Given the description of an element on the screen output the (x, y) to click on. 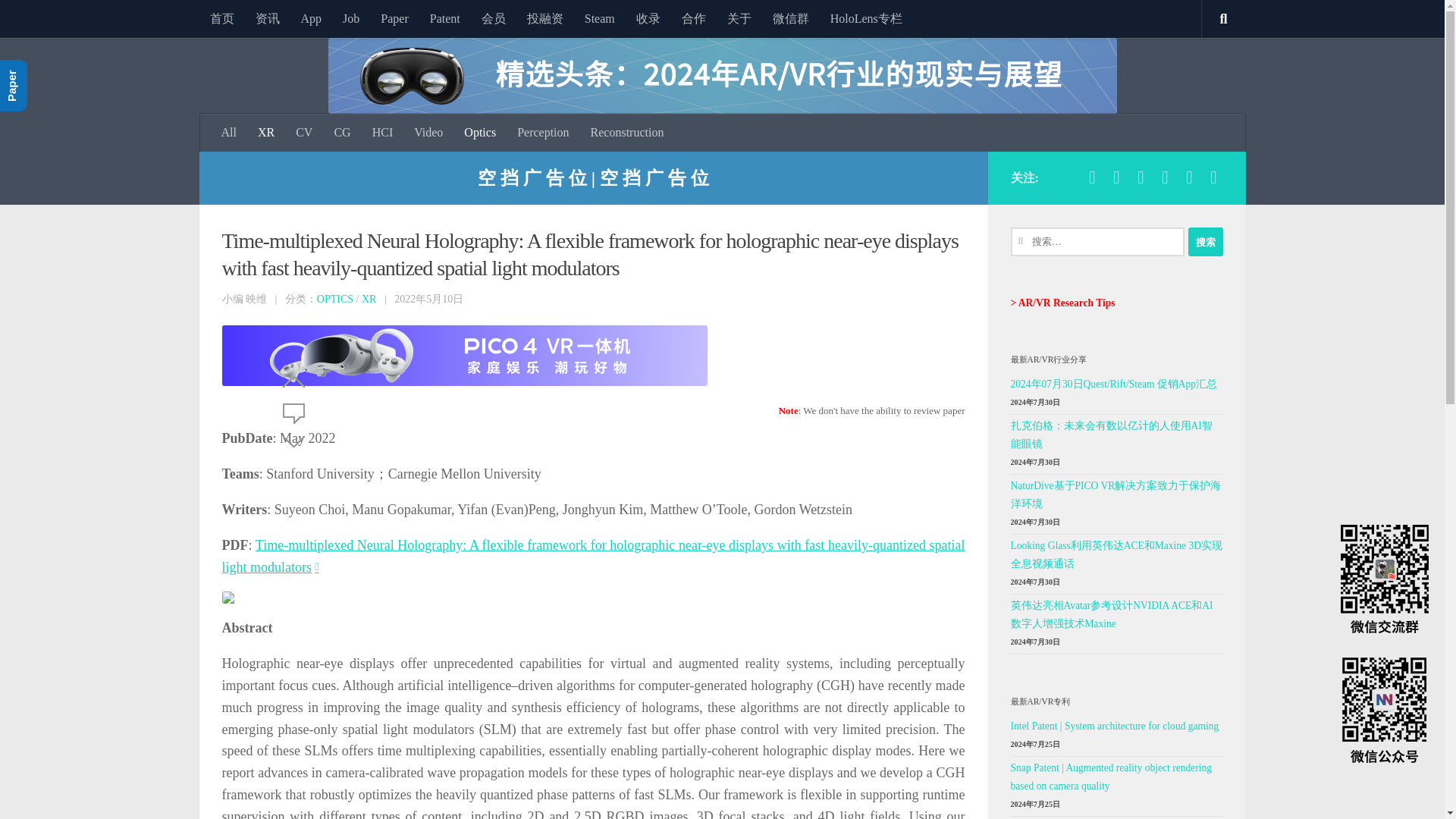
CG (342, 132)
Twitter (1115, 177)
Steam (599, 18)
All (229, 132)
App (310, 18)
Video (427, 132)
Reconstruction (627, 132)
XR (368, 298)
Perception (542, 132)
HCI (382, 132)
Job (350, 18)
Paper (394, 18)
CV (304, 132)
Optics (479, 132)
